Given the description of an element on the screen output the (x, y) to click on. 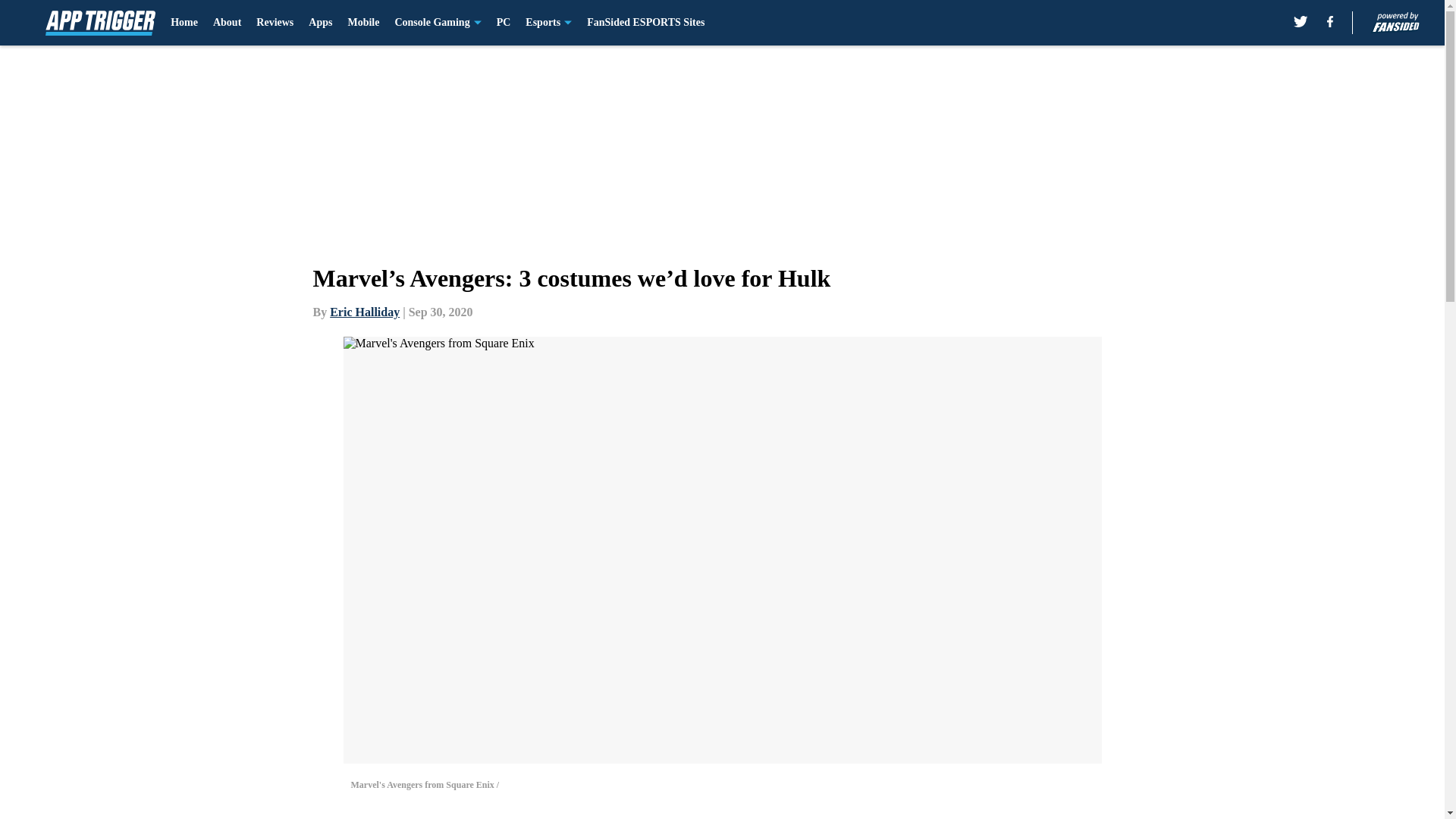
Reviews (275, 22)
PC (503, 22)
About (226, 22)
Eric Halliday (364, 311)
Mobile (362, 22)
Home (184, 22)
FanSided ESPORTS Sites (645, 22)
Apps (319, 22)
